Given the description of an element on the screen output the (x, y) to click on. 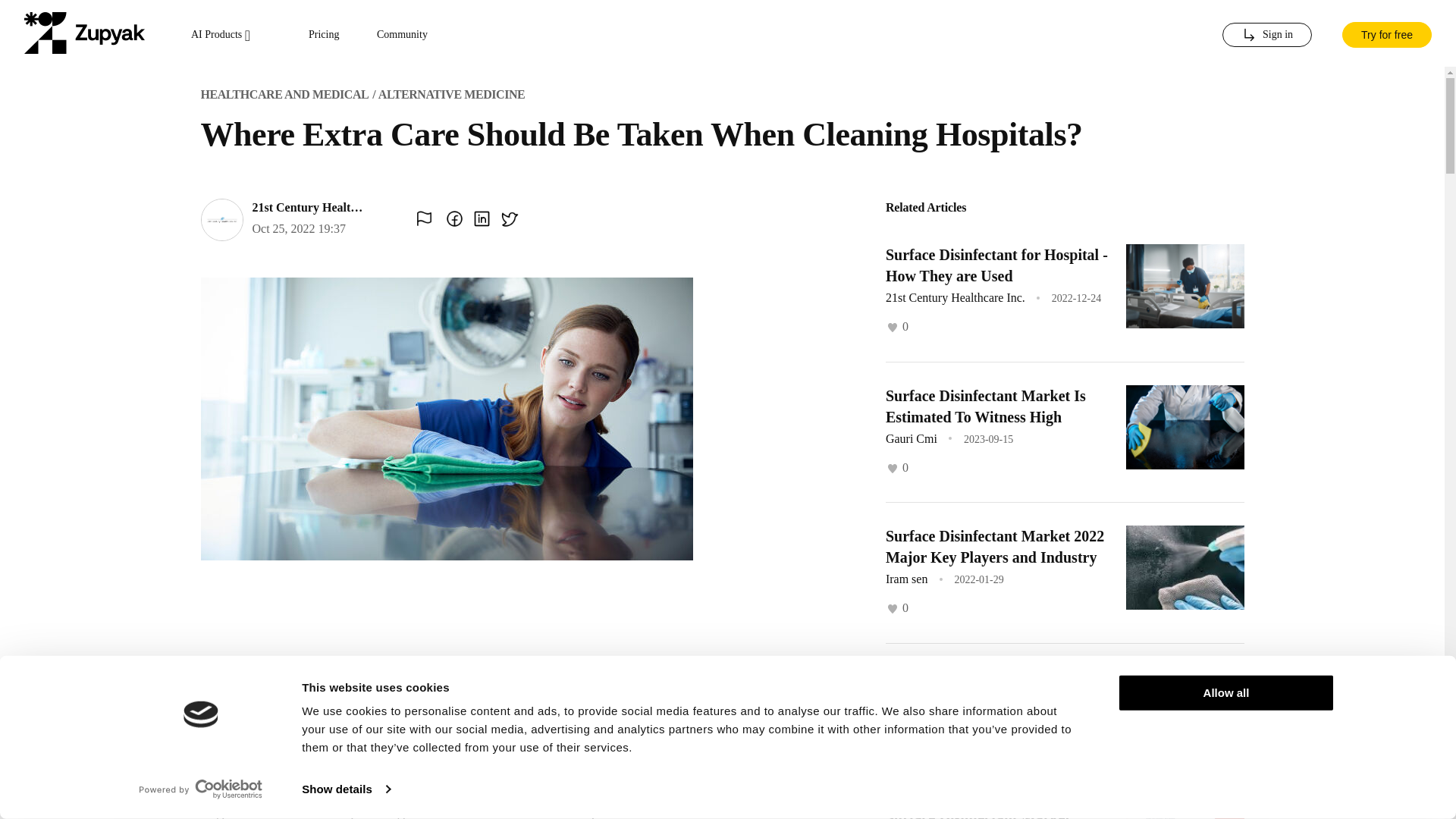
Surface Disinfectant for Hospital - How They are Used (996, 265)
Show details (345, 789)
